Given the description of an element on the screen output the (x, y) to click on. 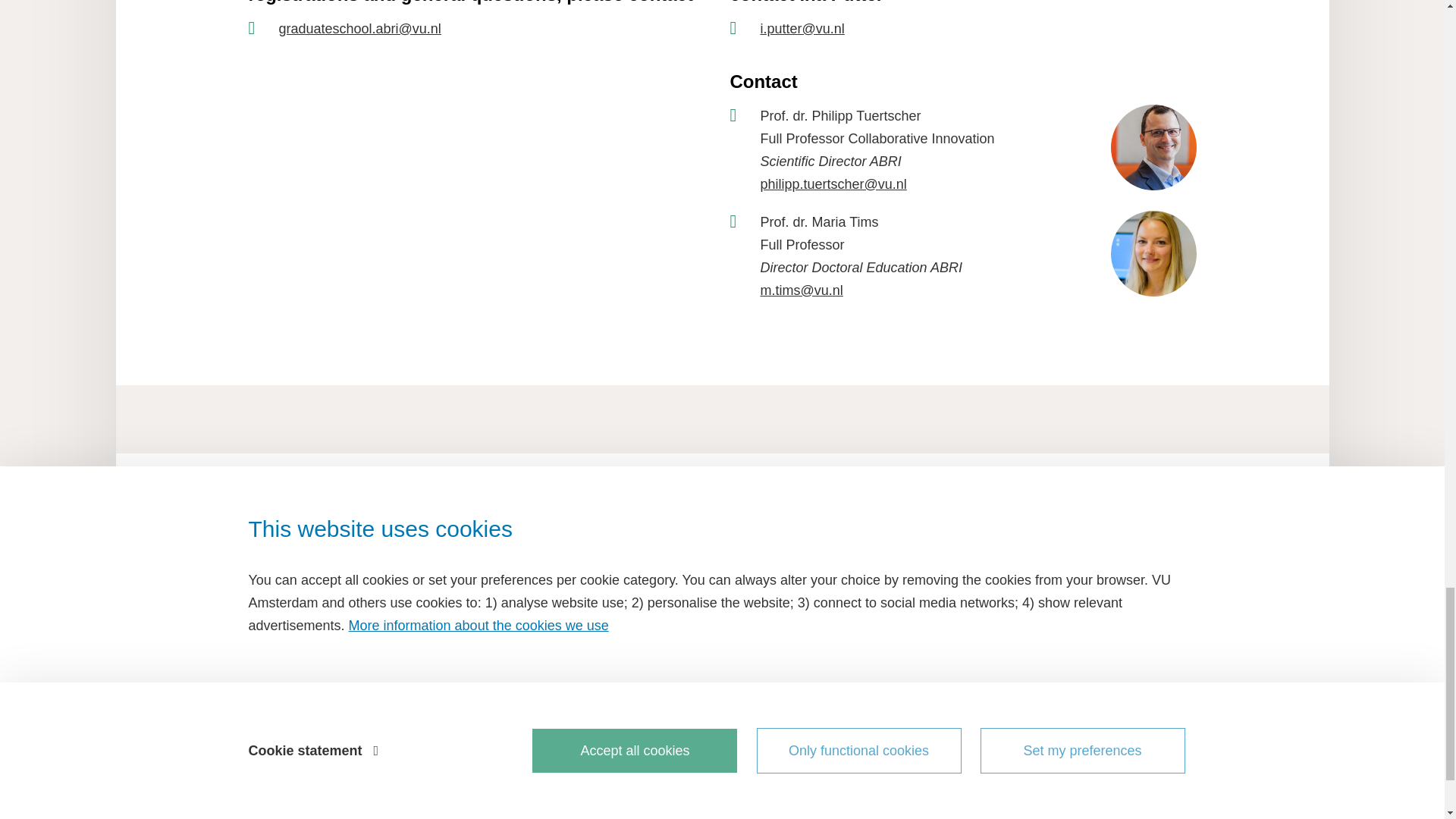
Study guide (400, 653)
Research (400, 680)
VUfonds (400, 760)
University Library (400, 707)
VU Press Office (400, 733)
Education (400, 627)
